Given the description of an element on the screen output the (x, y) to click on. 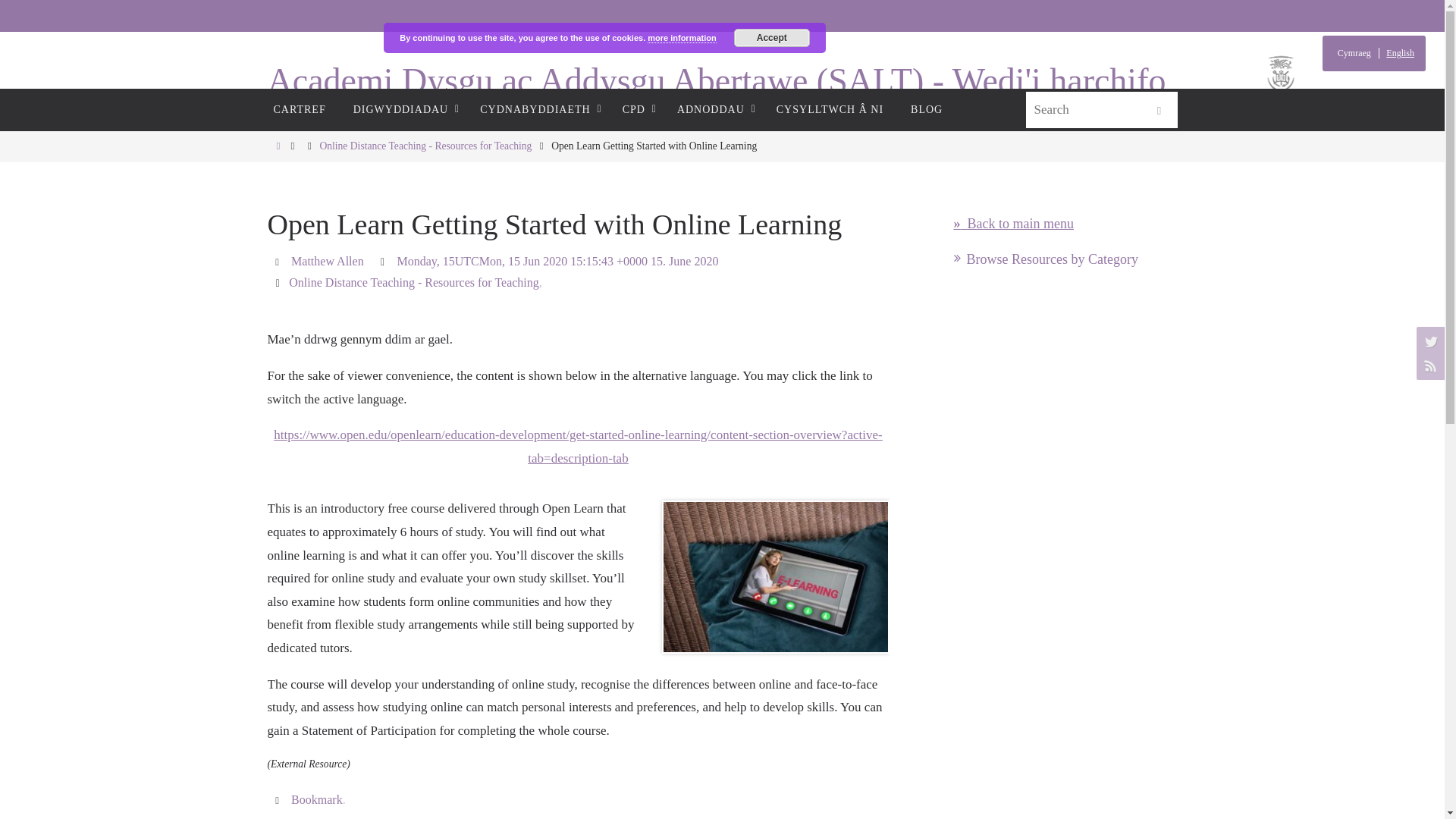
DIGWYDDIADAU (403, 109)
English (1397, 52)
CYDNABYDDIAETH (536, 109)
Author  (278, 260)
BLOG (926, 109)
Cymraeg (1355, 52)
Categories (278, 282)
CPD (635, 109)
CARTREF (299, 109)
Permalink to Open Learn Getting Started with Online Learning (316, 799)
 Bookmark the permalink (278, 799)
Online Distance Teaching - Resources for Teaching (424, 145)
Date (384, 260)
Search (1158, 110)
